Given the description of an element on the screen output the (x, y) to click on. 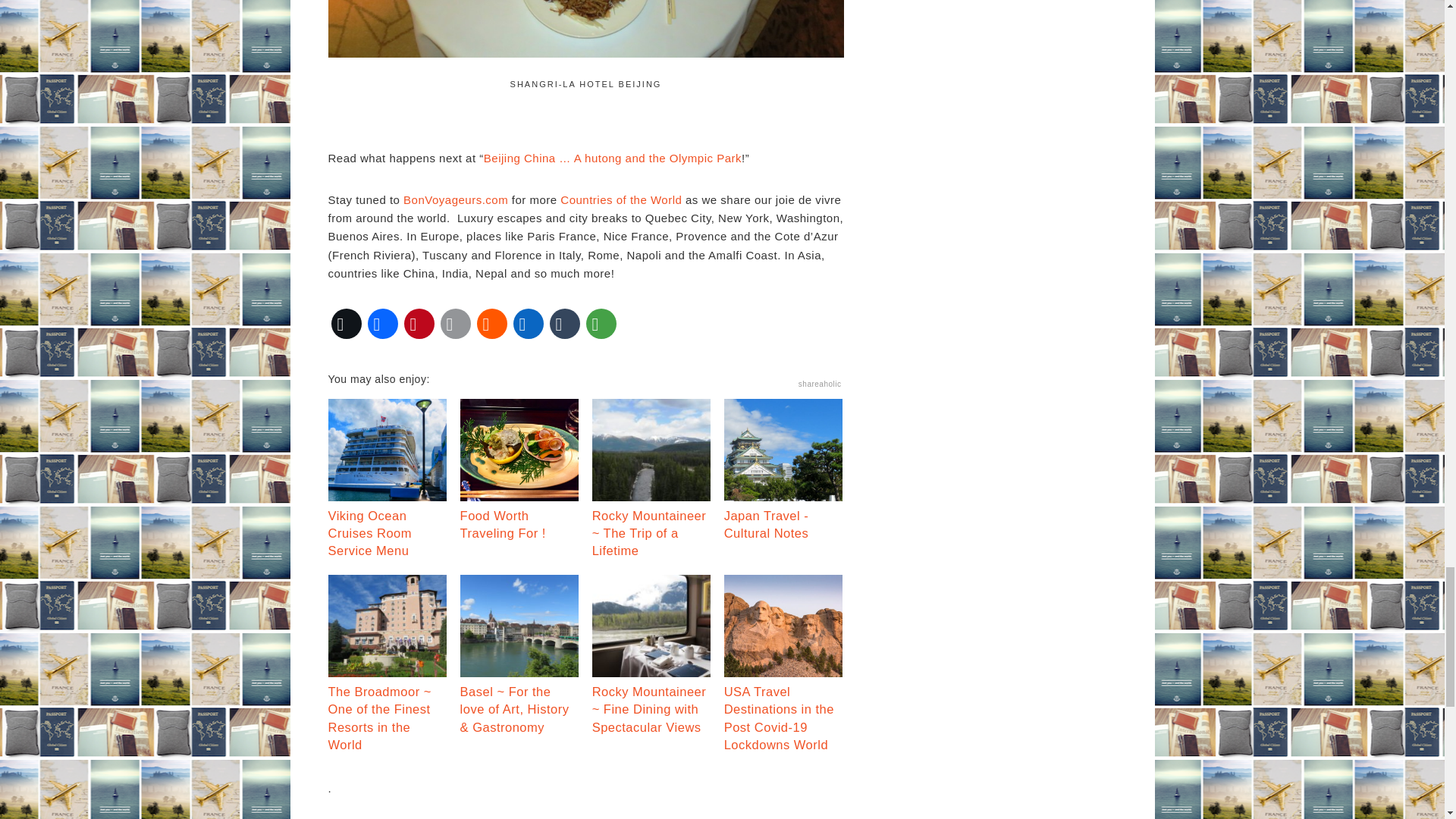
BonVoyageurs (455, 199)
Facebook (382, 323)
Countries of the World (620, 199)
Reddit (491, 323)
Beijing China ... A hutong and the Olympic Park (612, 157)
Email This (454, 323)
Pinterest (418, 323)
